Given the description of an element on the screen output the (x, y) to click on. 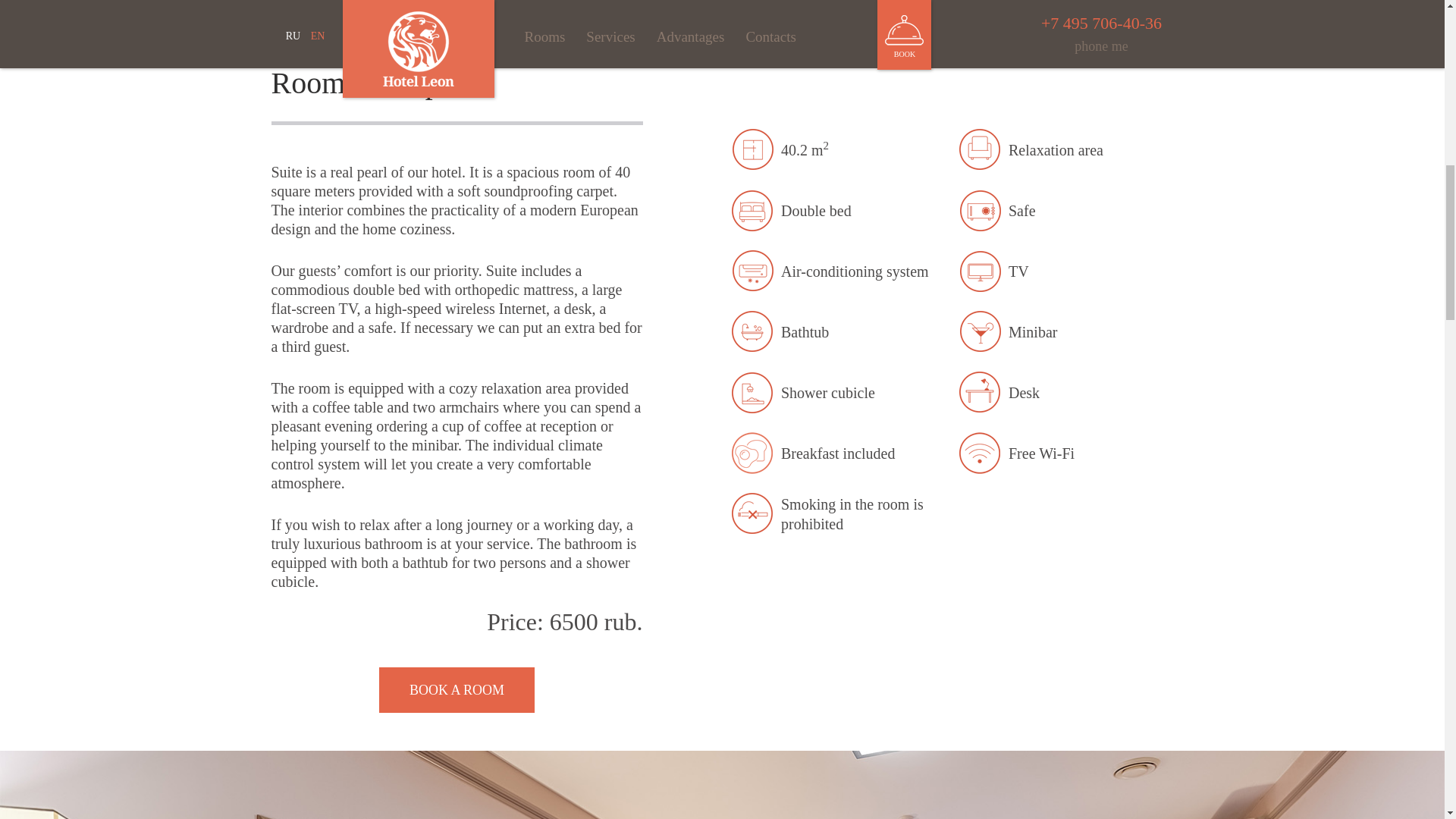
BOOK A ROOM (456, 689)
